Given the description of an element on the screen output the (x, y) to click on. 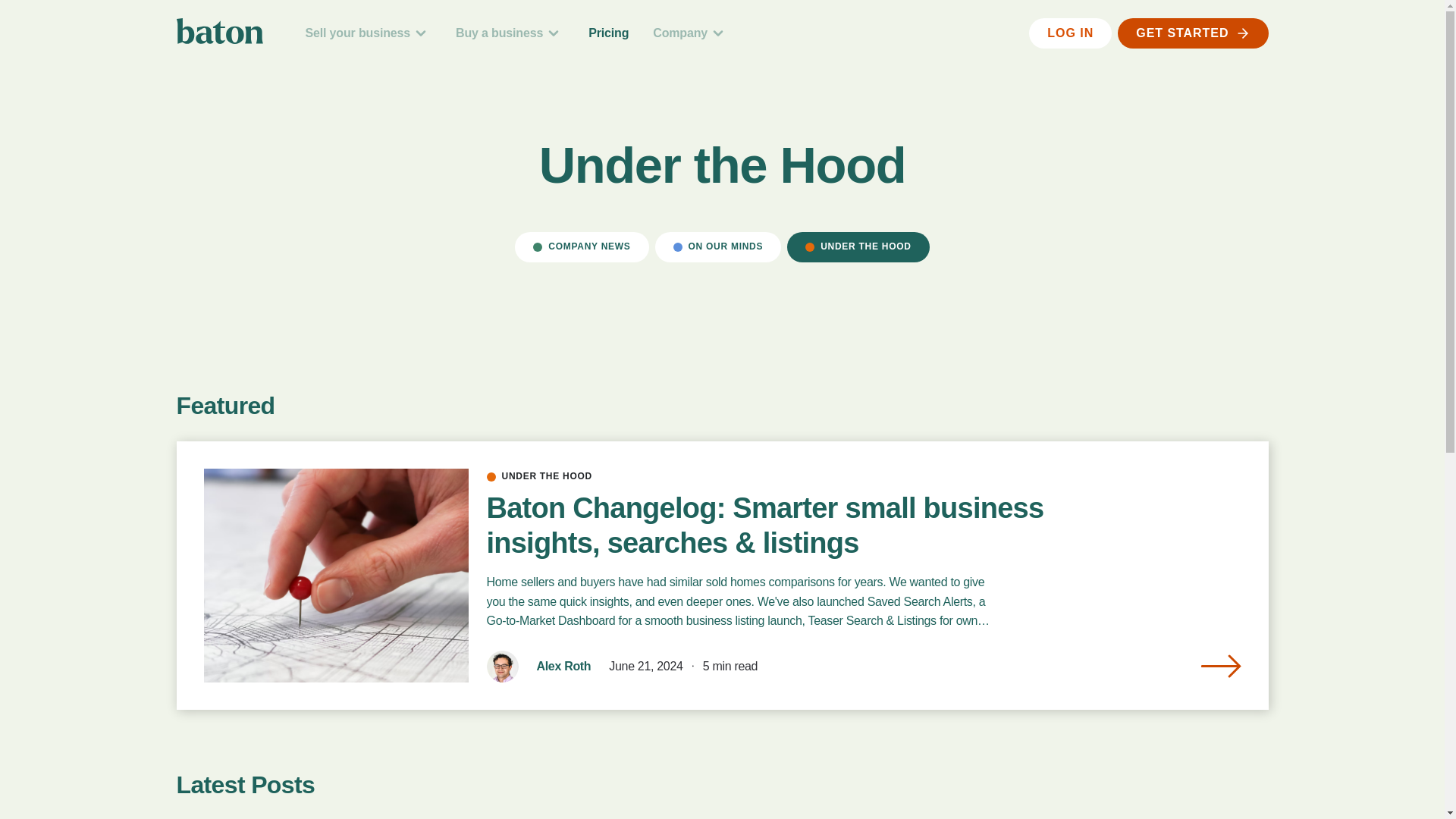
Pricing (608, 32)
Company (690, 33)
LOG IN (1070, 33)
GET STARTED (1193, 33)
ON OUR MINDS (718, 246)
UNDER THE HOOD (857, 246)
Buy a business (509, 33)
Sell your business (367, 33)
COMPANY NEWS (581, 246)
